Given the description of an element on the screen output the (x, y) to click on. 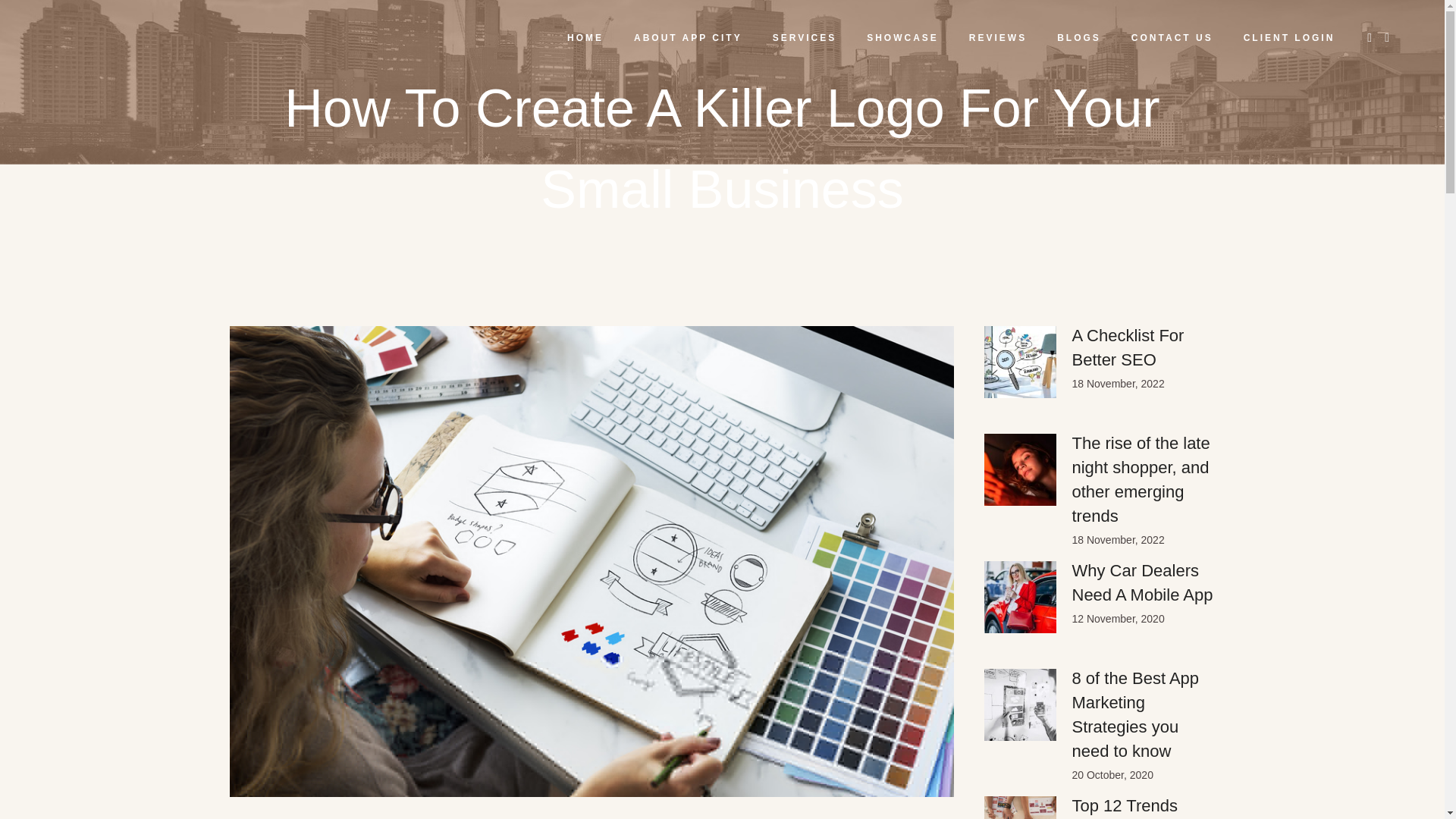
SERVICES (804, 38)
BLOGS (1079, 38)
A Checklist For Better SEO (1128, 347)
Why Car Dealers Need A Mobile App (1141, 582)
CLIENT LOGIN (1289, 38)
REVIEWS (997, 38)
SHOWCASE (902, 38)
ABOUT APP CITY (687, 38)
CONTACT US (1172, 38)
